Given the description of an element on the screen output the (x, y) to click on. 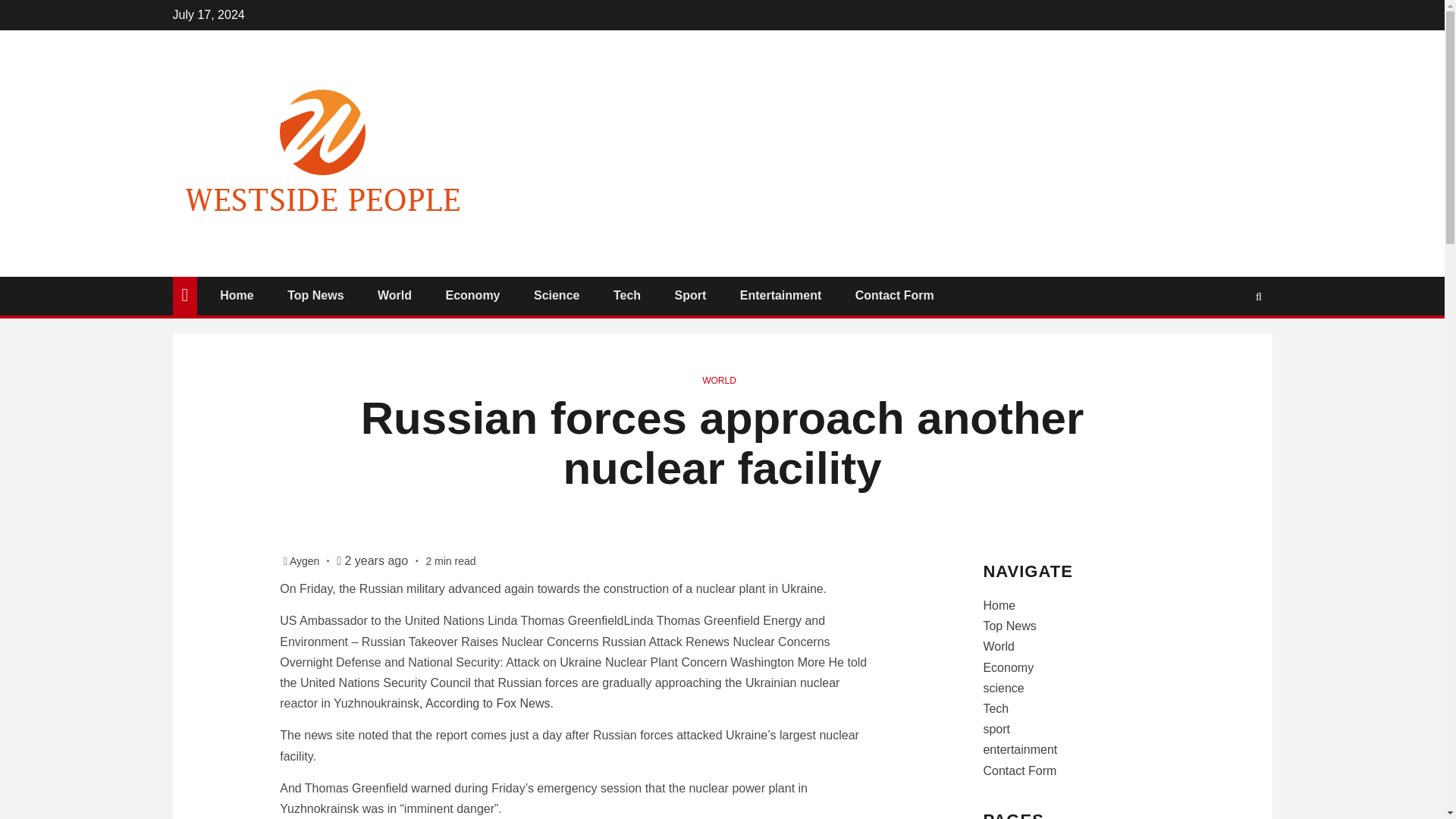
According to Fox News. (489, 703)
Tech (626, 295)
Economy (472, 295)
Aygen (305, 561)
Top News (314, 295)
Entertainment (780, 295)
Top News (1008, 625)
Home (998, 604)
Search (1229, 341)
World (394, 295)
Science (556, 295)
WORLD (718, 380)
Home (236, 295)
Sport (690, 295)
Contact Form (895, 295)
